Given the description of an element on the screen output the (x, y) to click on. 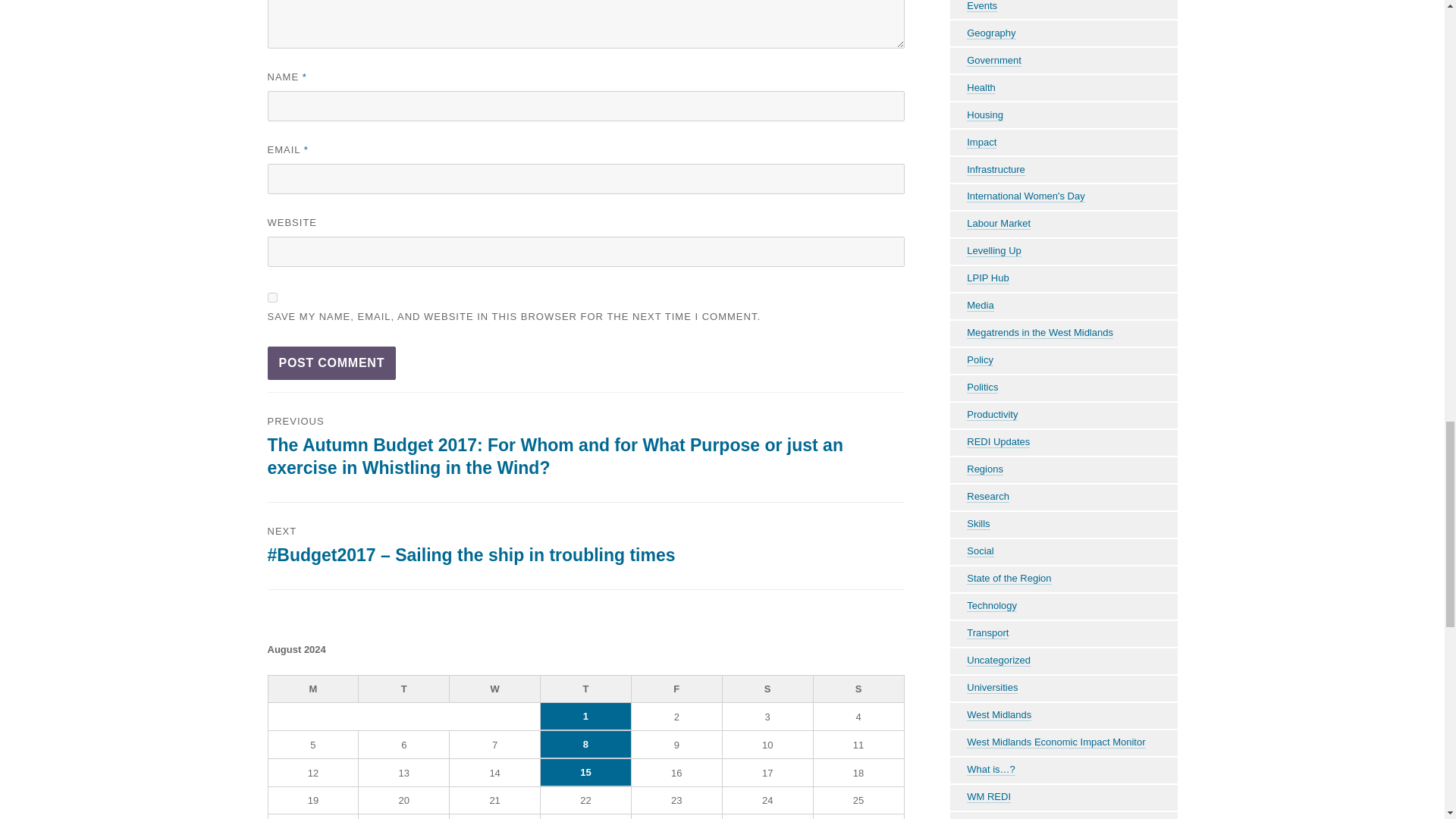
Monday (313, 688)
8 (585, 744)
Post Comment (331, 363)
15 (585, 772)
Saturday (767, 688)
Wednesday (494, 688)
Sunday (858, 688)
Friday (676, 688)
Tuesday (403, 688)
